Given the description of an element on the screen output the (x, y) to click on. 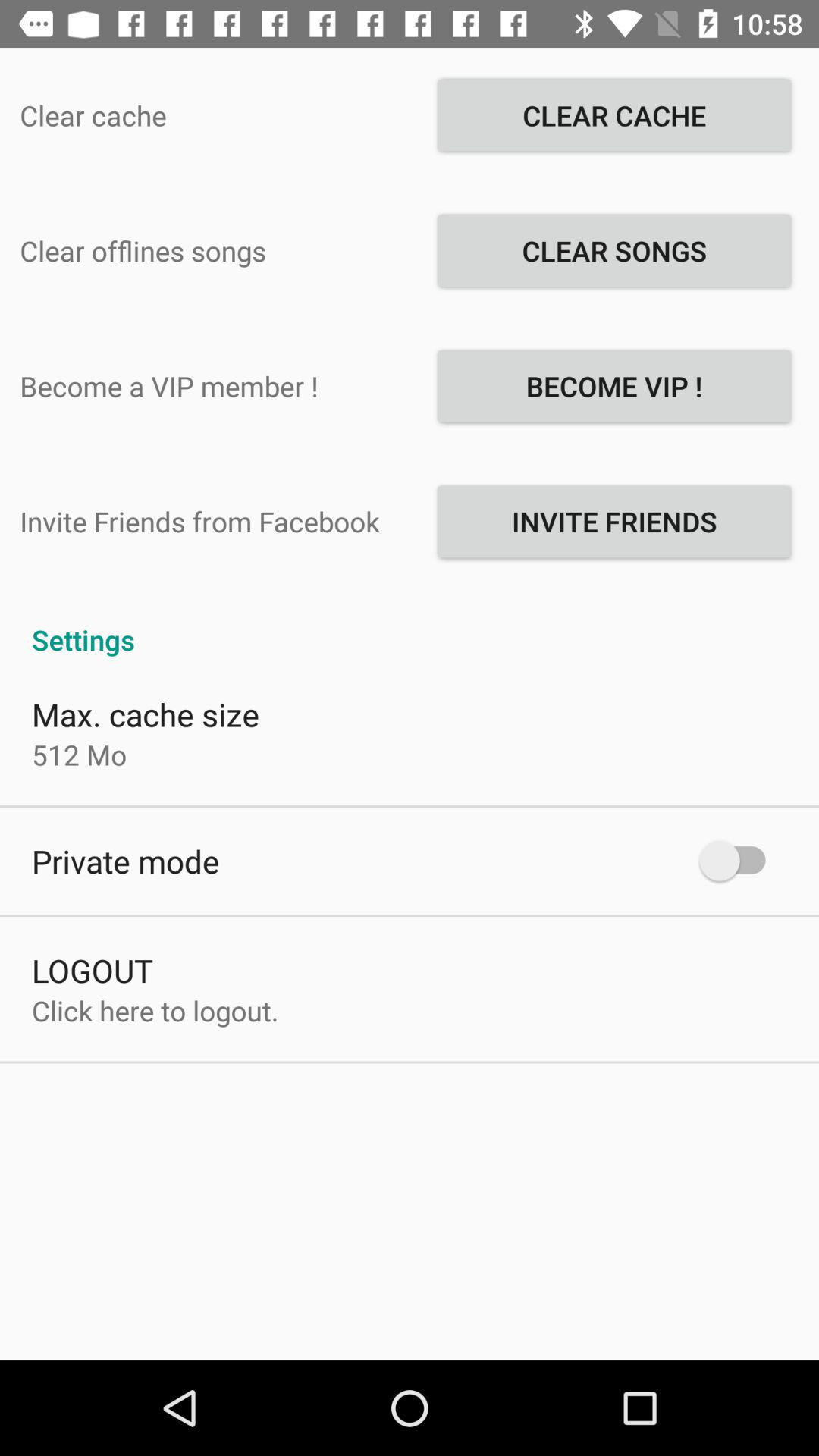
open the max. cache size item (145, 713)
